Given the description of an element on the screen output the (x, y) to click on. 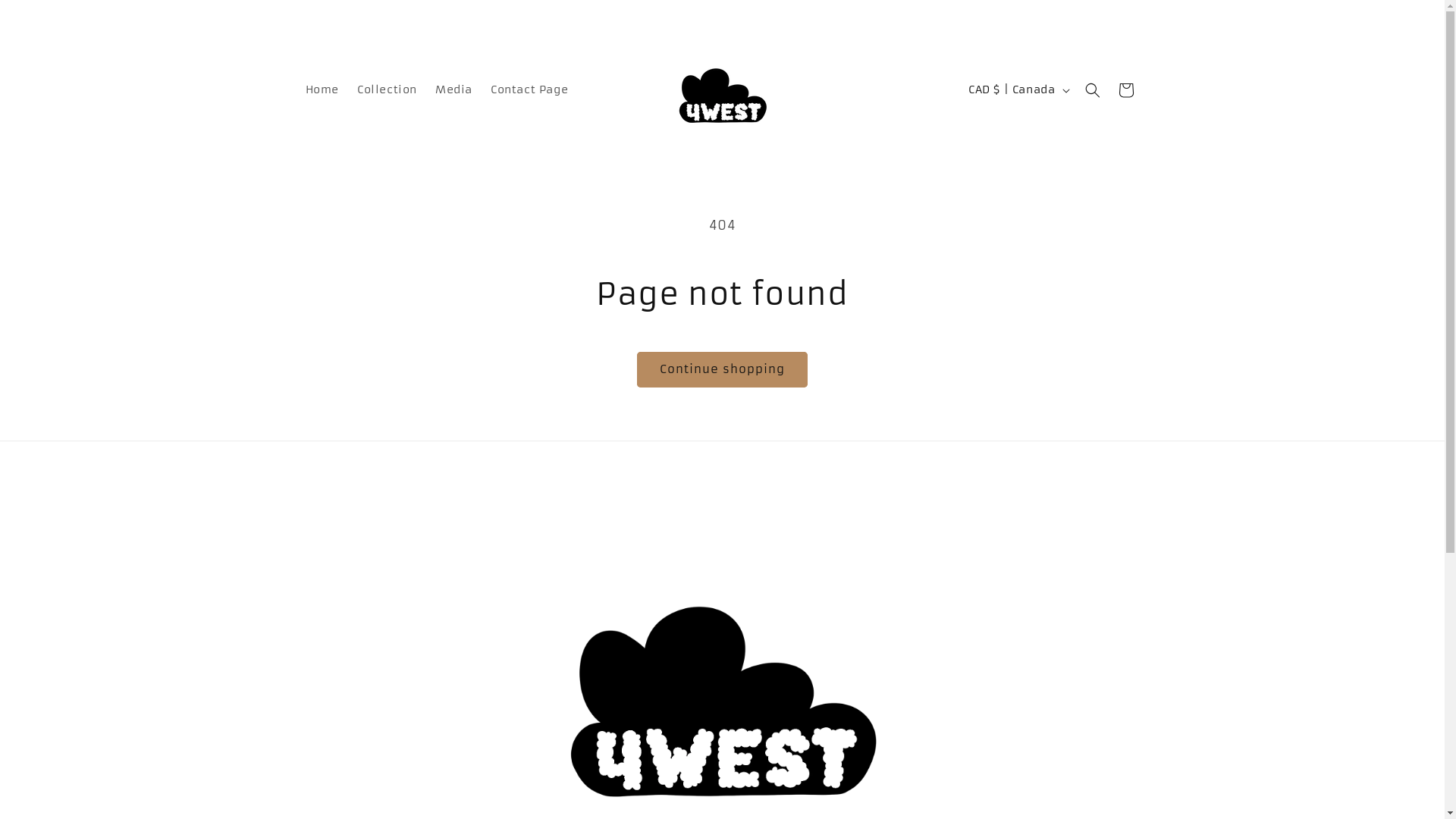
Cart Element type: text (1125, 89)
Collection Element type: text (387, 89)
Continue shopping Element type: text (722, 369)
Home Element type: text (321, 89)
Media Element type: text (453, 89)
CAD $ | Canada Element type: text (1017, 89)
Contact Page Element type: text (529, 89)
